Given the description of an element on the screen output the (x, y) to click on. 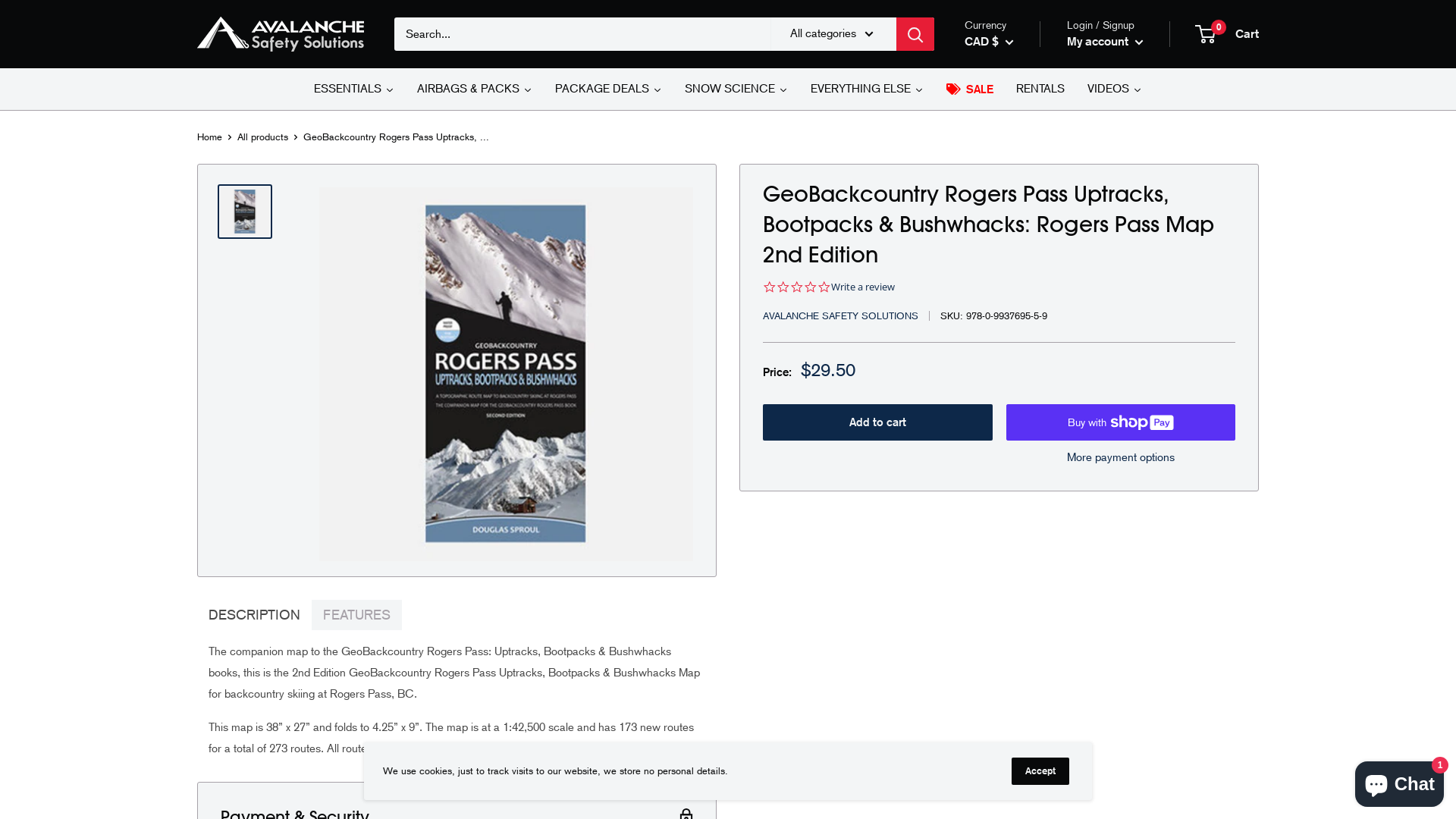
DKK Element type: text (1012, 778)
Add to cart Element type: text (877, 422)
ESSENTIALS Element type: text (353, 88)
CAD Element type: text (1012, 603)
AED Element type: text (1012, 209)
BSD Element type: text (1012, 538)
Shopify online store chat Element type: hover (1399, 780)
BOB Element type: text (1012, 516)
RENTALS Element type: text (1040, 88)
PACKAGE DEALS Element type: text (608, 88)
BDT Element type: text (1012, 429)
My account Element type: text (1104, 41)
AIRBAGS & PACKS Element type: text (474, 88)
DJF Element type: text (1012, 756)
CHF Element type: text (1012, 647)
Write a review Element type: text (862, 287)
ALL Element type: text (1012, 253)
BWP Element type: text (1012, 560)
BIF Element type: text (1012, 472)
0
Cart Element type: text (1227, 33)
More payment options Element type: text (1120, 456)
AZN Element type: text (1012, 363)
Home Element type: text (209, 136)
AMD Element type: text (1012, 275)
CZK Element type: text (1012, 734)
AVALANCHE SAFETY SOLUTIONS Element type: text (840, 315)
All products Element type: text (262, 136)
AFN Element type: text (1012, 231)
Accept Element type: text (1040, 770)
SNOW SCIENCE Element type: text (736, 88)
AWG Element type: text (1012, 341)
CRC Element type: text (1012, 691)
SALE Element type: text (969, 88)
CNY Element type: text (1012, 669)
DOP Element type: text (1012, 800)
BAM Element type: text (1012, 385)
BBD Element type: text (1012, 407)
ANG Element type: text (1012, 297)
AUD Element type: text (1012, 319)
BGN Element type: text (1012, 450)
EVERYTHING ELSE Element type: text (867, 88)
CVE Element type: text (1012, 713)
BZD Element type: text (1012, 581)
VIDEOS Element type: text (1114, 88)
CAD $ Element type: text (988, 41)
CDF Element type: text (1012, 625)
BND Element type: text (1012, 494)
